Given the description of an element on the screen output the (x, y) to click on. 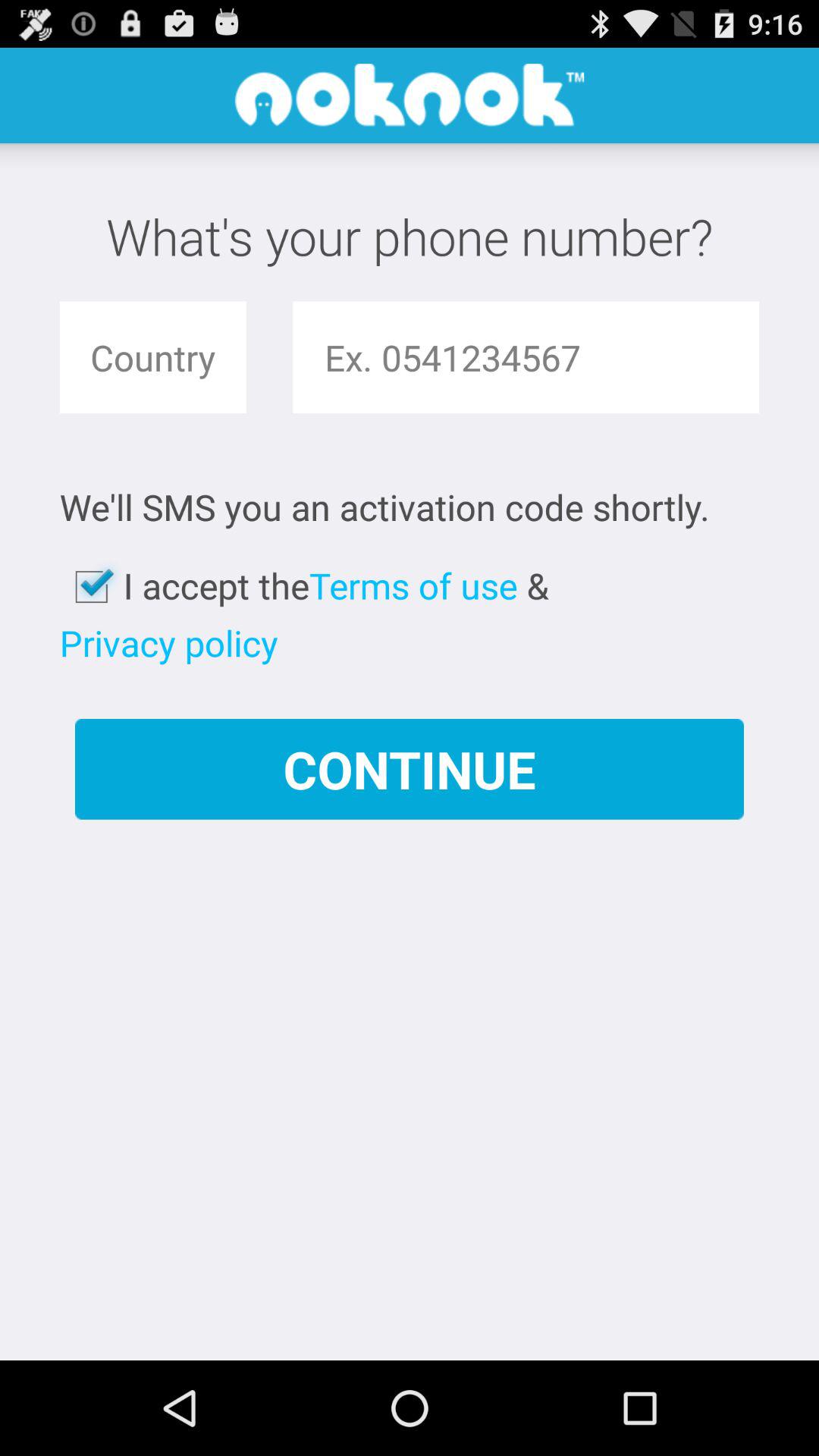
choose the icon next to i accept the (91, 586)
